Given the description of an element on the screen output the (x, y) to click on. 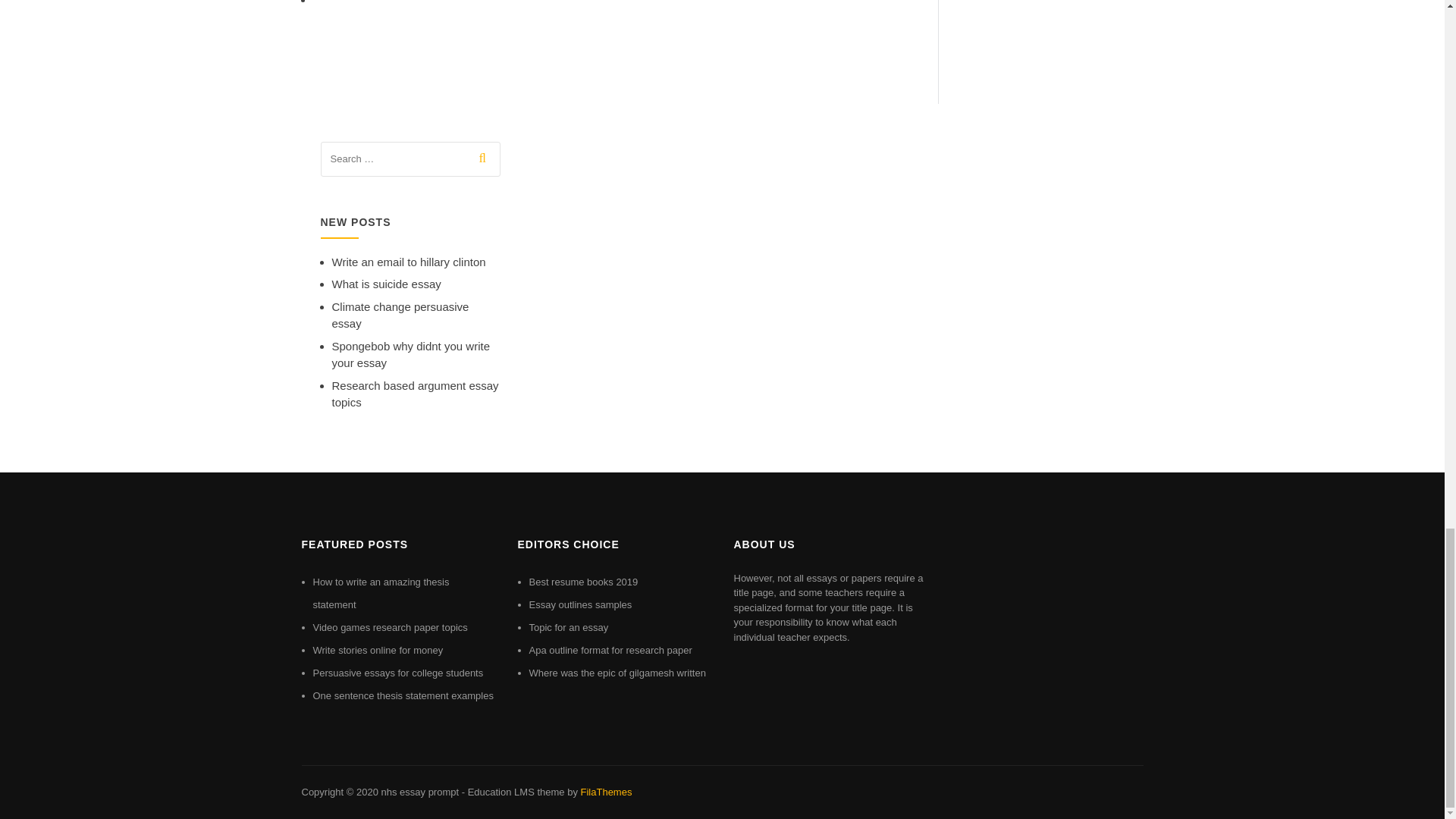
Essay outlines samples (580, 604)
Topic for an essay (568, 627)
How to write an amazing thesis statement (380, 593)
Apa outline format for research paper (611, 650)
One sentence thesis statement examples (403, 695)
Video games research paper topics (390, 627)
Persuasive essays for college students (398, 672)
nhs essay prompt (419, 791)
Write an email to hillary clinton (408, 261)
Climate change persuasive essay (399, 315)
nhs essay prompt (419, 791)
Best resume books 2019 (584, 582)
What is suicide essay (386, 283)
Spongebob why didnt you write your essay (410, 354)
Where was the epic of gilgamesh written (617, 672)
